Given the description of an element on the screen output the (x, y) to click on. 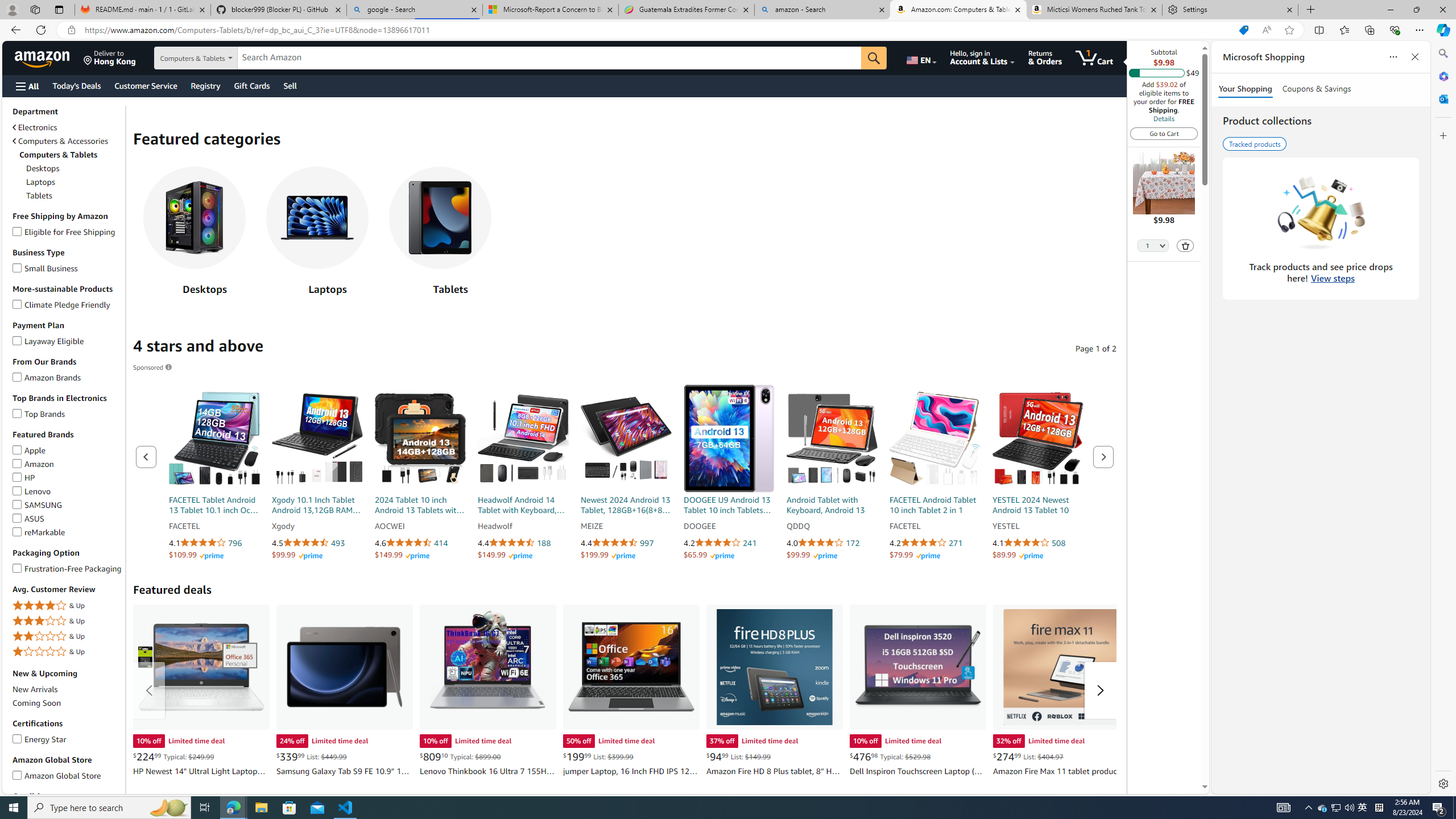
Eligible for Free Shipping Eligible for Free Shipping (64, 231)
Eligible for Free ShippingEligible for Free Shipping (67, 231)
Small Business (17, 266)
Go (873, 57)
Amazon (17, 461)
Delete (1185, 245)
Tablets (440, 234)
google - Search (414, 9)
SAMSUNGSAMSUNG (67, 505)
3 Stars & Up& Up (67, 621)
